Given the description of an element on the screen output the (x, y) to click on. 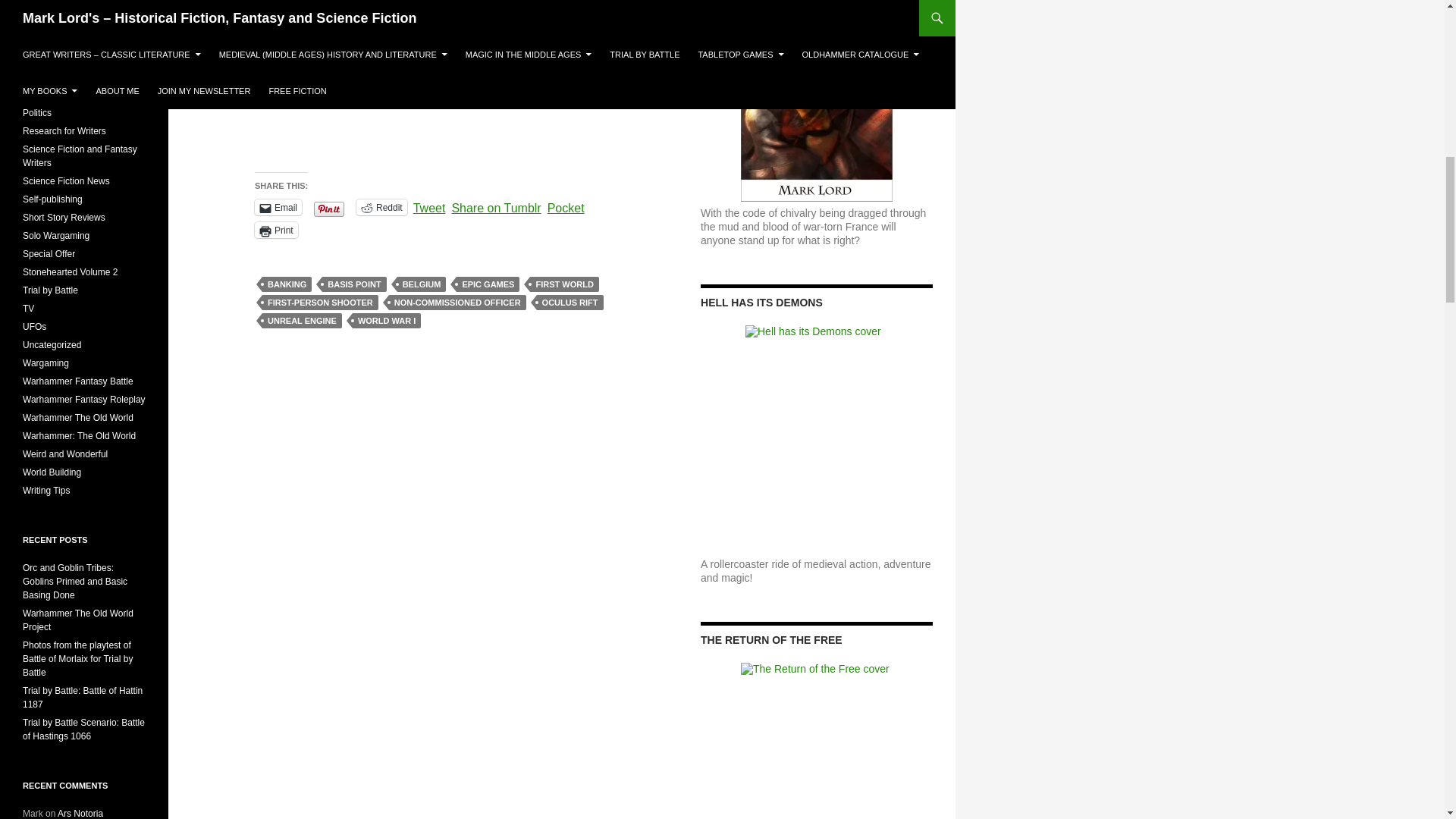
Hell has its Demons (816, 438)
Chivalry: A Jake Savage Adventure (816, 100)
Click to email a link to a friend (277, 207)
The Return of the Free (816, 740)
Share on Tumblr (495, 205)
Click to share on Reddit (381, 207)
Click to print (276, 229)
